Given the description of an element on the screen output the (x, y) to click on. 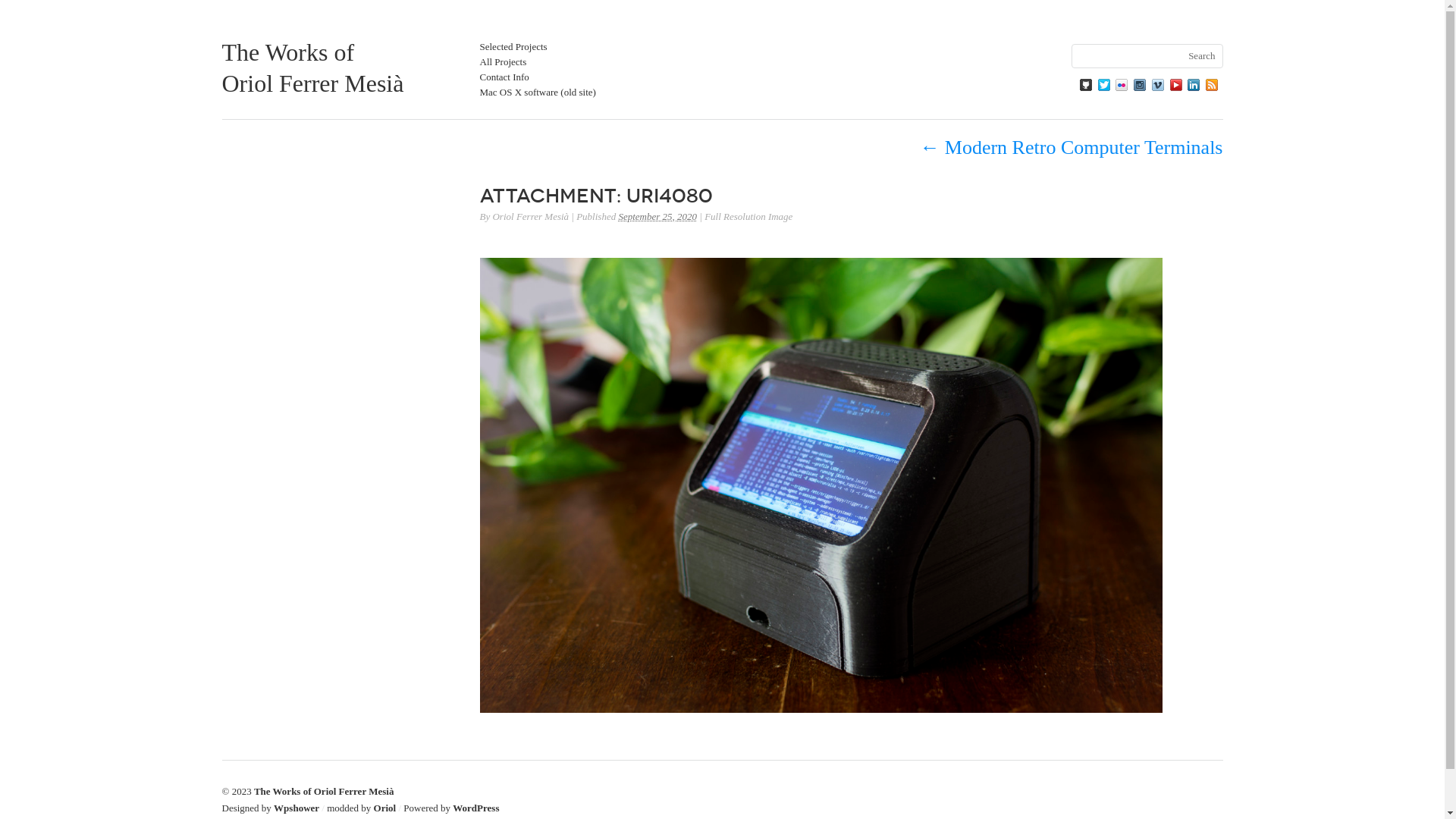
Blog Element type: hover (1211, 84)
Contact Info Element type: text (503, 76)
Full Resolution Image Element type: text (748, 216)
Instagram Element type: hover (1139, 84)
Github Element type: hover (1085, 84)
Flickr Element type: hover (1121, 84)
Search Element type: text (19, 8)
Twitter Element type: hover (1104, 84)
WordPress Element type: text (475, 807)
Oriol Element type: text (384, 807)
Mac OS X software (old site) Element type: text (537, 91)
URI4080 Element type: hover (820, 708)
Vimeo Element type: hover (1157, 84)
Selected Projects Element type: text (512, 46)
LinkedIn Element type: hover (1193, 84)
YouTube Element type: hover (1175, 84)
All Projects Element type: text (502, 61)
Wpshower Element type: text (296, 807)
